Given the description of an element on the screen output the (x, y) to click on. 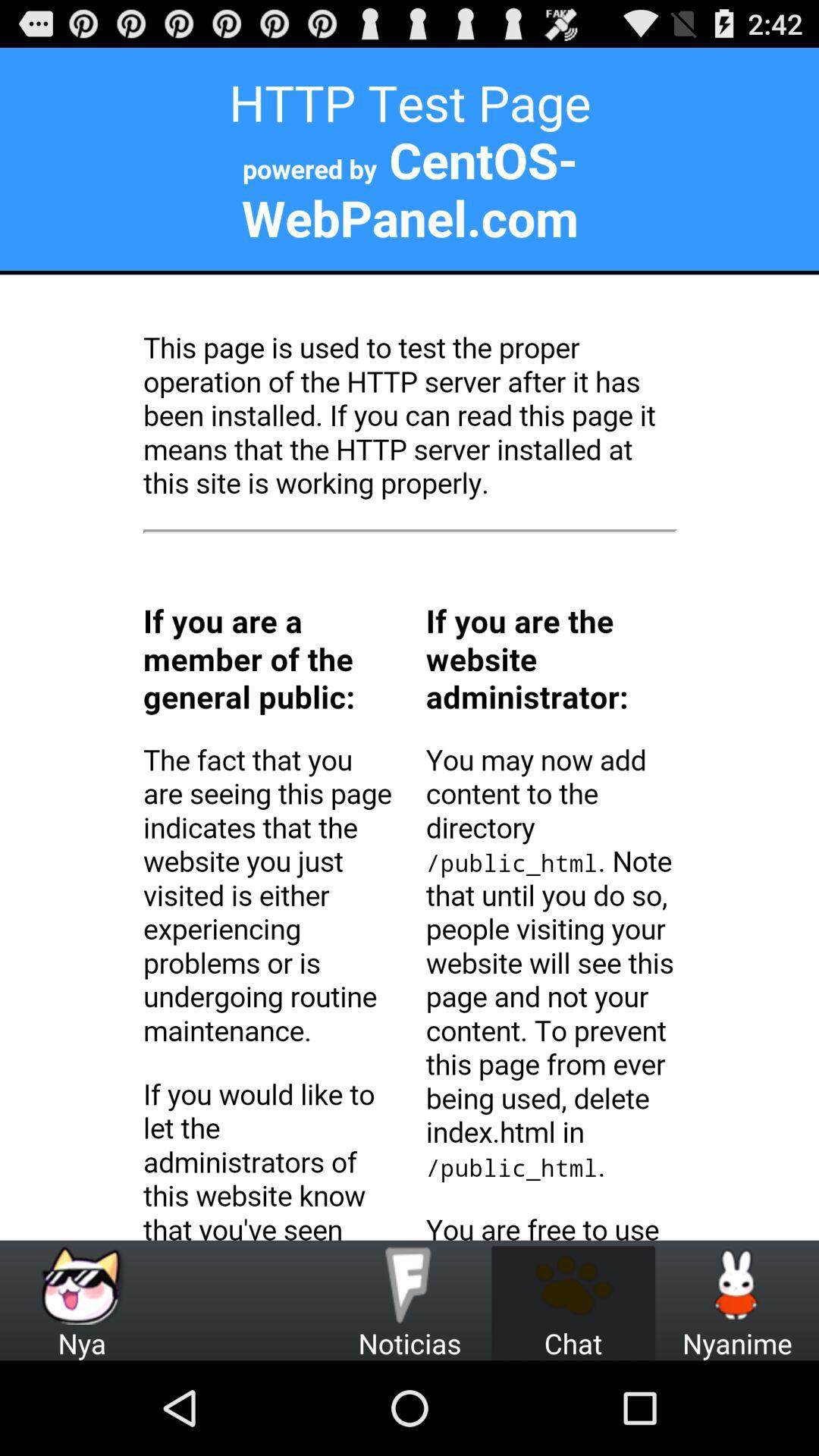
paragraph (409, 643)
